Given the description of an element on the screen output the (x, y) to click on. 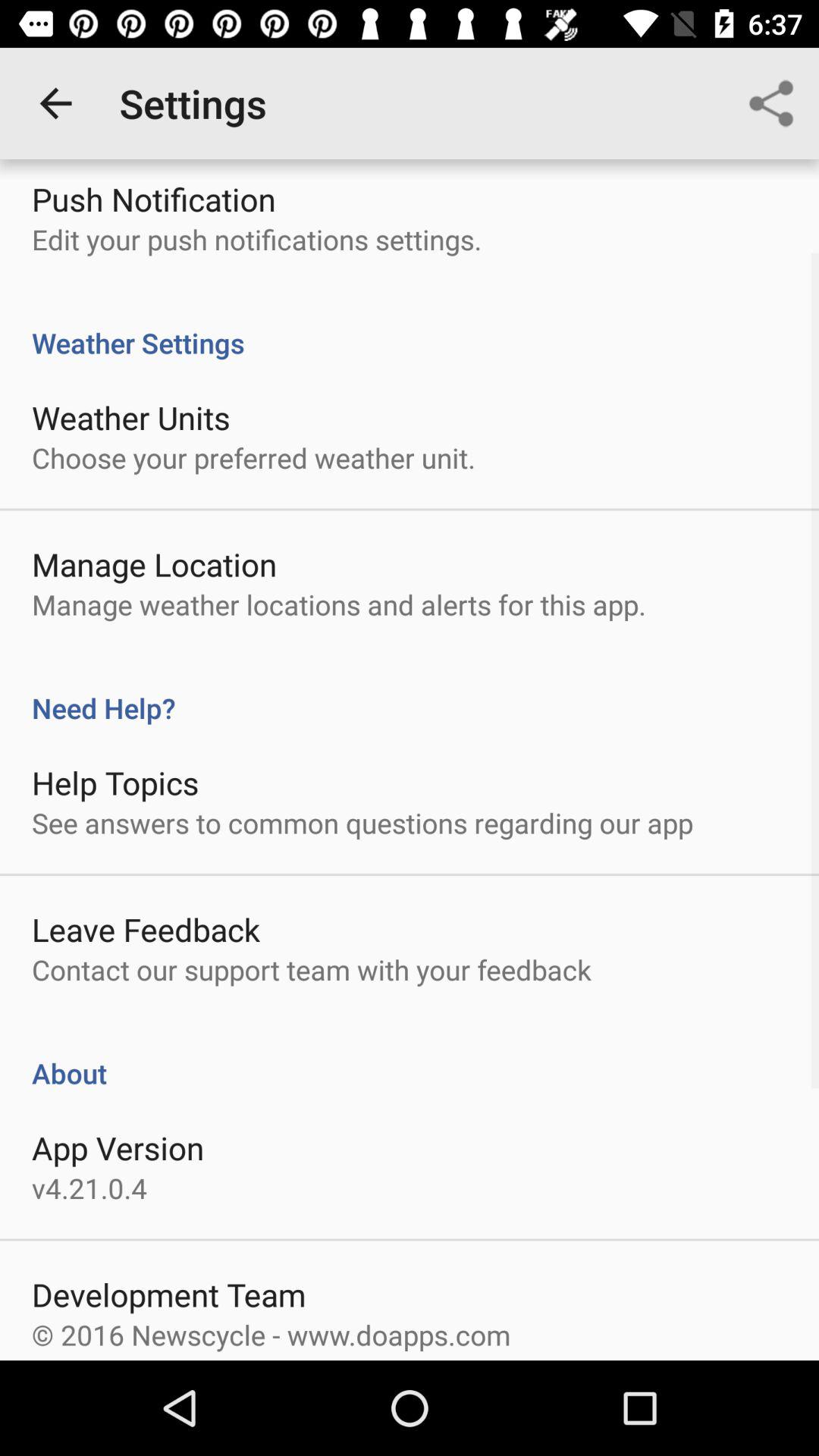
launch the icon above about item (311, 969)
